Given the description of an element on the screen output the (x, y) to click on. 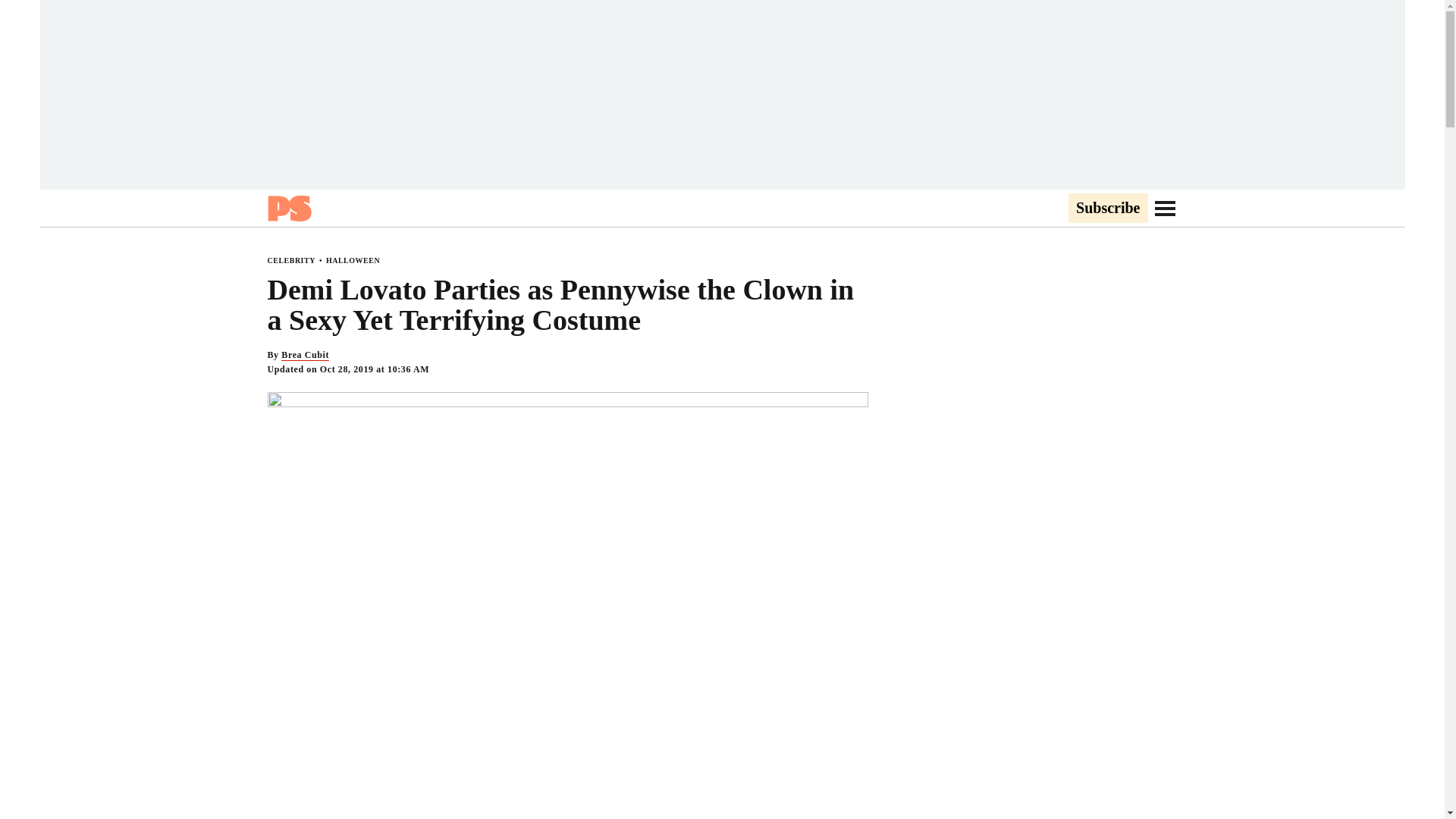
Subscribe (1107, 208)
HALLOWEEN (353, 260)
Popsugar (288, 208)
CELEBRITY (290, 260)
Go to Navigation (1164, 207)
Go to Navigation (1164, 207)
Brea Cubit (305, 355)
